Given the description of an element on the screen output the (x, y) to click on. 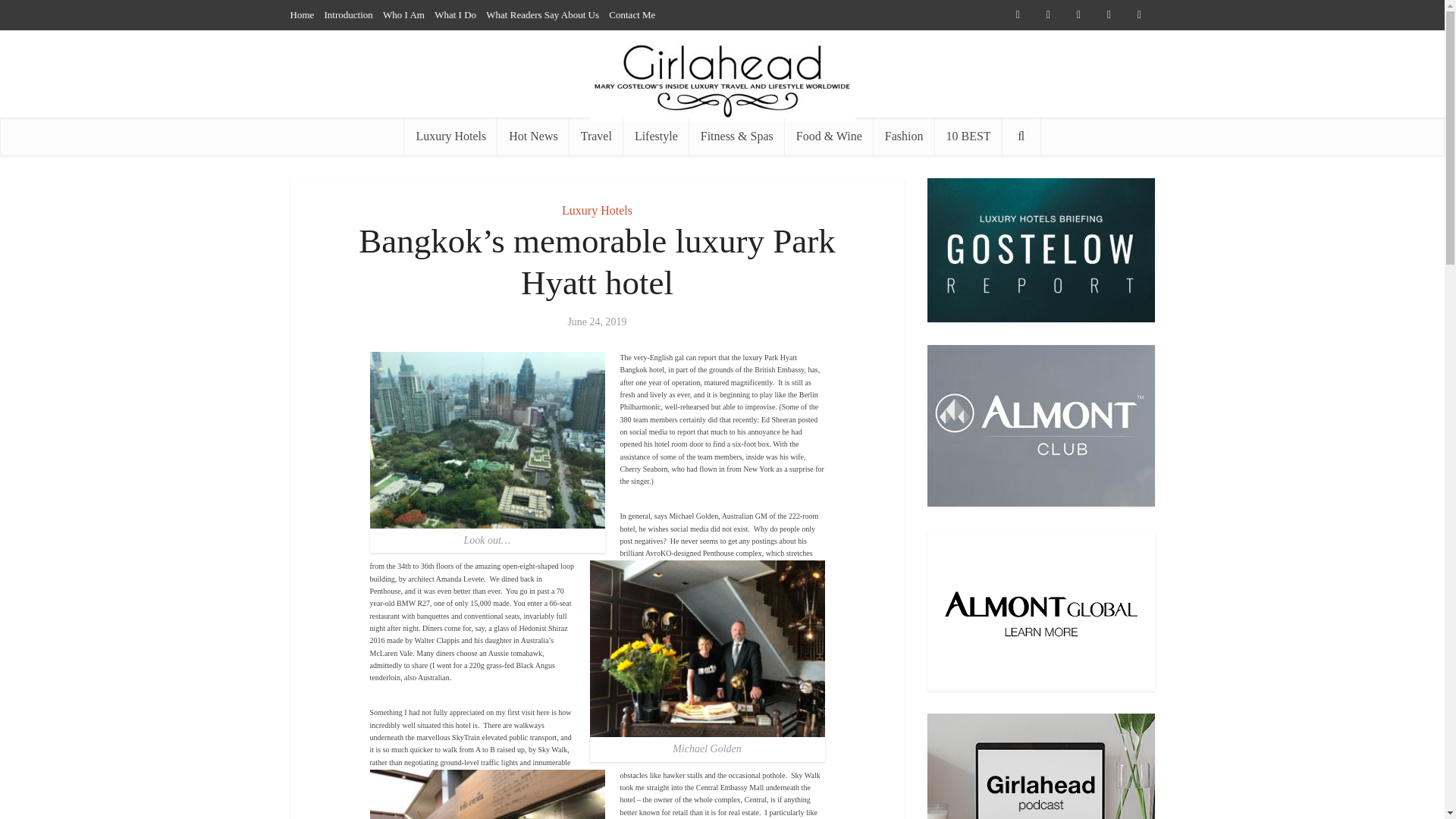
What Readers Say About Us (542, 14)
Who I Am (403, 14)
Home (301, 14)
Luxury Hotels (450, 136)
Travel (596, 136)
Luxury Hotels (596, 210)
Hot News (533, 136)
Introduction (348, 14)
Lifestyle (655, 136)
10 BEST (967, 136)
